Given the description of an element on the screen output the (x, y) to click on. 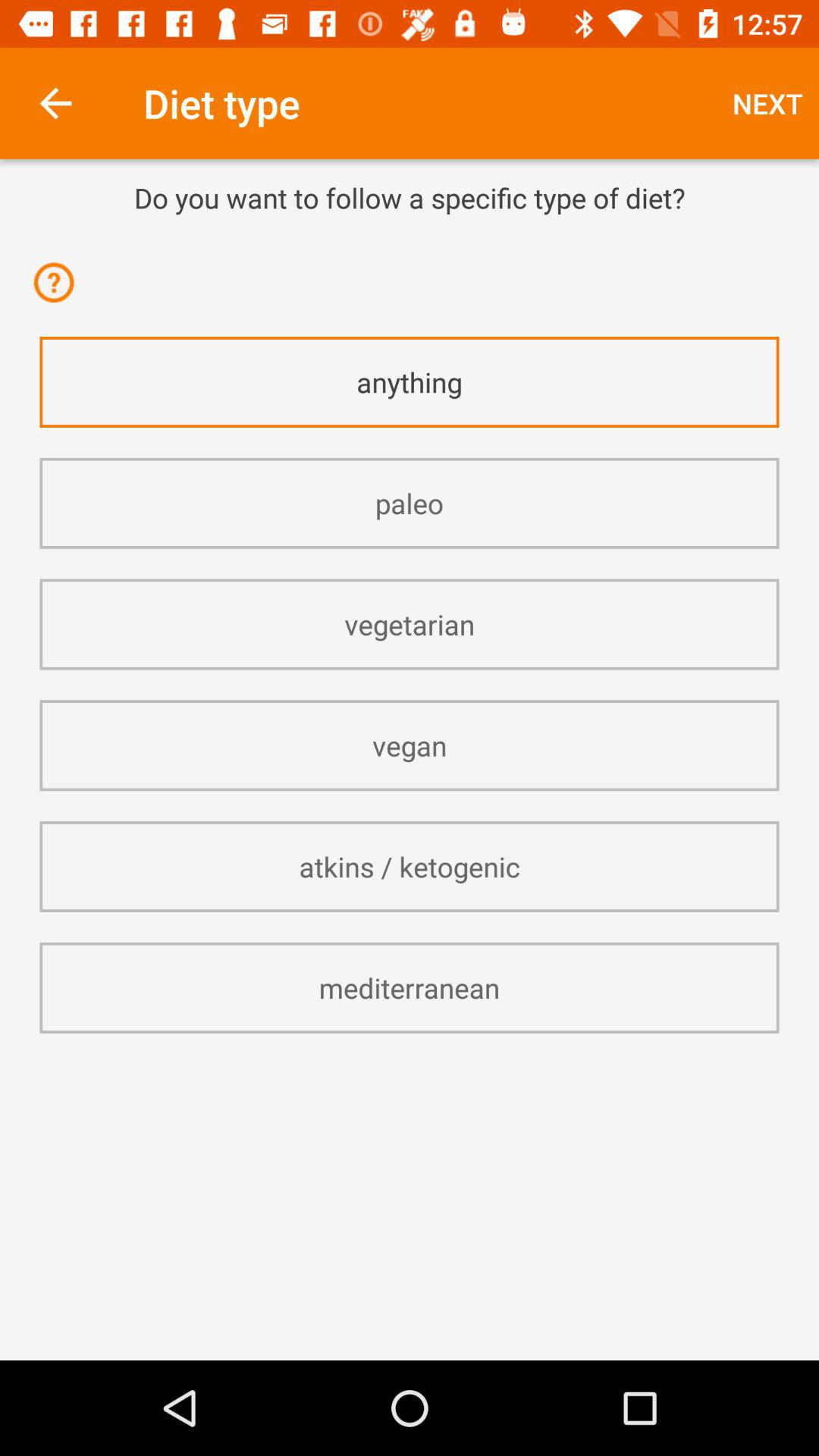
press item below the anything item (409, 503)
